Given the description of an element on the screen output the (x, y) to click on. 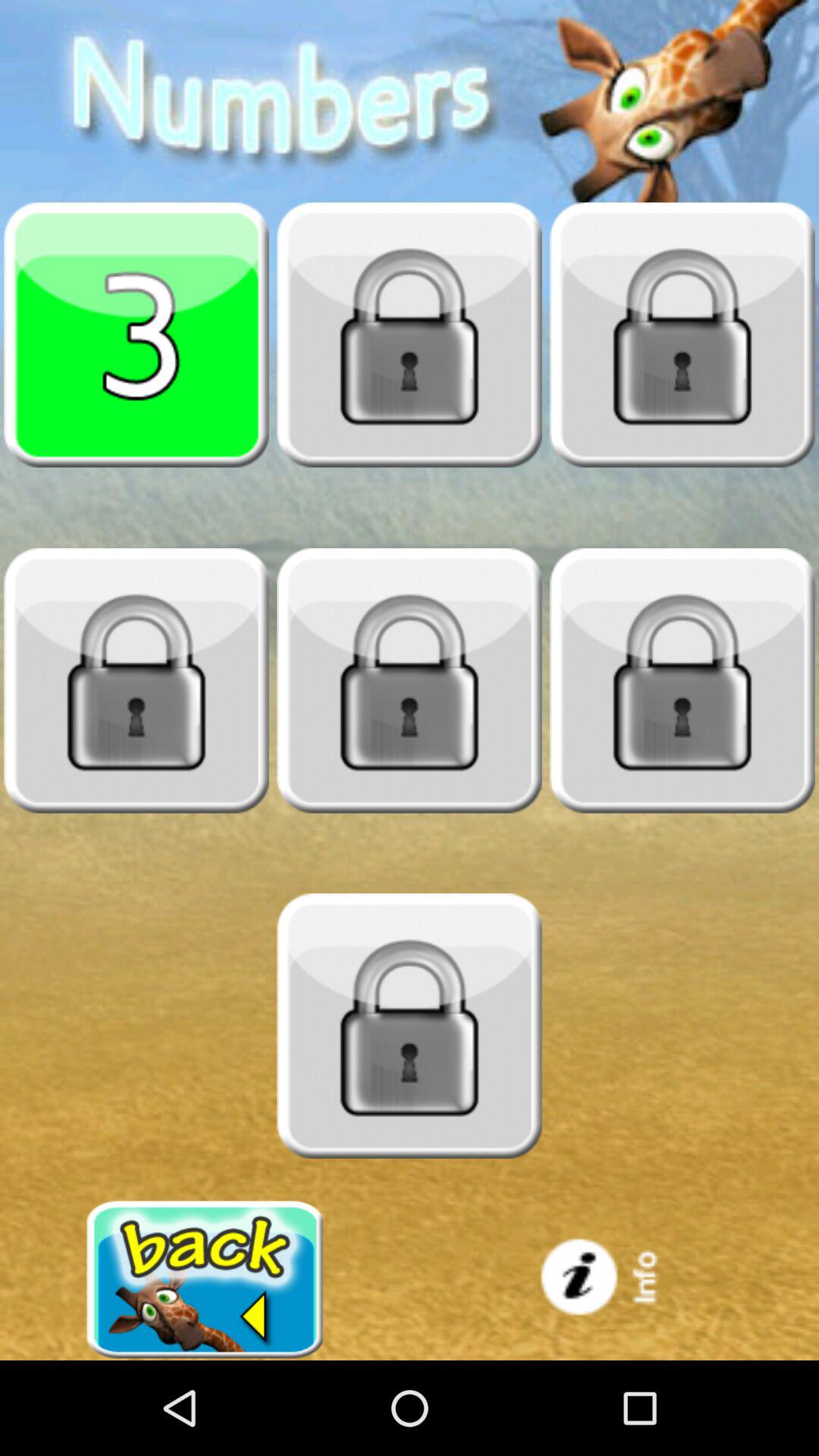
unlocked level (682, 680)
